Given the description of an element on the screen output the (x, y) to click on. 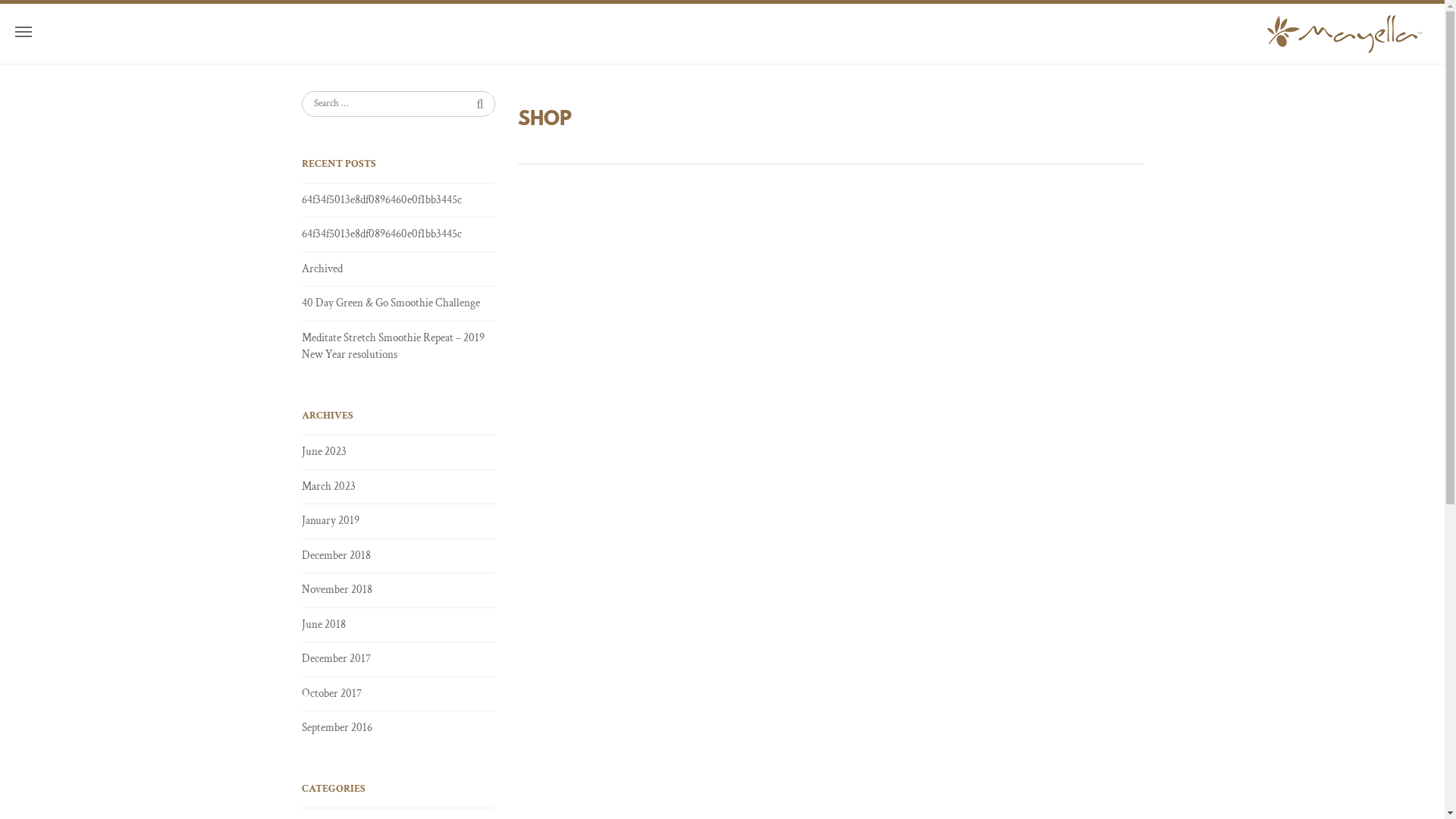
January 2019 Element type: text (398, 520)
40 Day Green & Go Smoothie Challenge Element type: text (398, 302)
November 2018 Element type: text (398, 589)
December 2018 Element type: text (398, 555)
June 2018 Element type: text (398, 624)
64f34f5013e8df0896460e0f1bb3445c Element type: text (398, 233)
March 2023 Element type: text (398, 486)
December 2017 Element type: text (398, 658)
June 2023 Element type: text (398, 451)
September 2016 Element type: text (398, 727)
October 2017 Element type: text (398, 693)
Archived Element type: text (398, 268)
64f34f5013e8df0896460e0f1bb3445c Element type: text (398, 199)
Search Element type: text (477, 103)
